Given the description of an element on the screen output the (x, y) to click on. 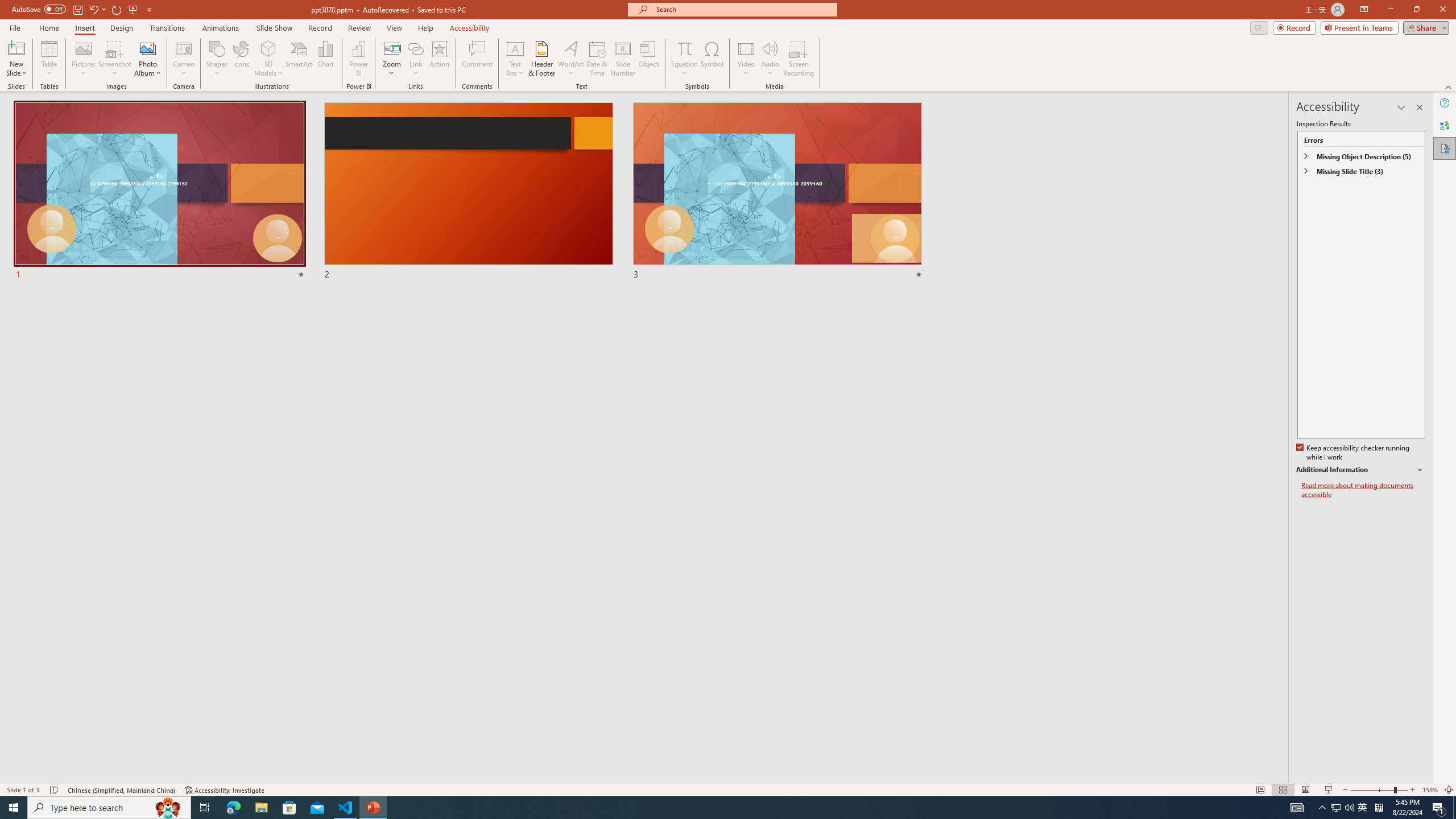
Symbol... (711, 58)
Action (439, 58)
